Given the description of an element on the screen output the (x, y) to click on. 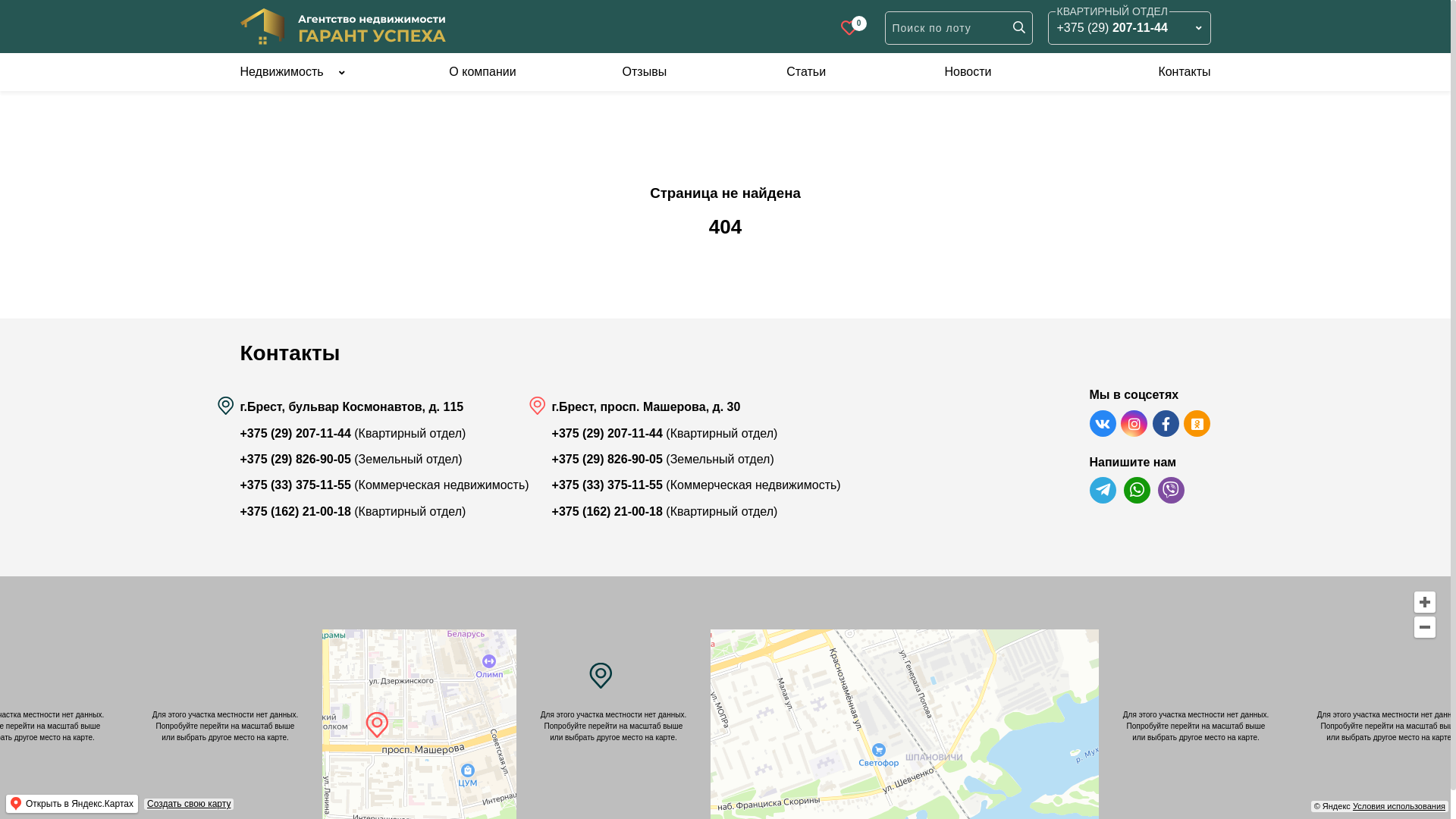
0 Element type: text (848, 27)
+375 (33) 375-11-55 Element type: text (607, 484)
+375 (29) 207-11-44 Element type: text (607, 432)
+375 (33) 375-11-55 Element type: text (294, 484)
+375 (29) 826-90-05 Element type: text (607, 458)
+375 (29) 207-11-44 Element type: text (294, 432)
+375 (29) 826-90-05 Element type: text (294, 458)
+375 (29) 207-11-44 Element type: text (1112, 27)
+375 (162) 21-00-18 Element type: text (607, 511)
+375 (162) 21-00-18 Element type: text (294, 511)
